Given the description of an element on the screen output the (x, y) to click on. 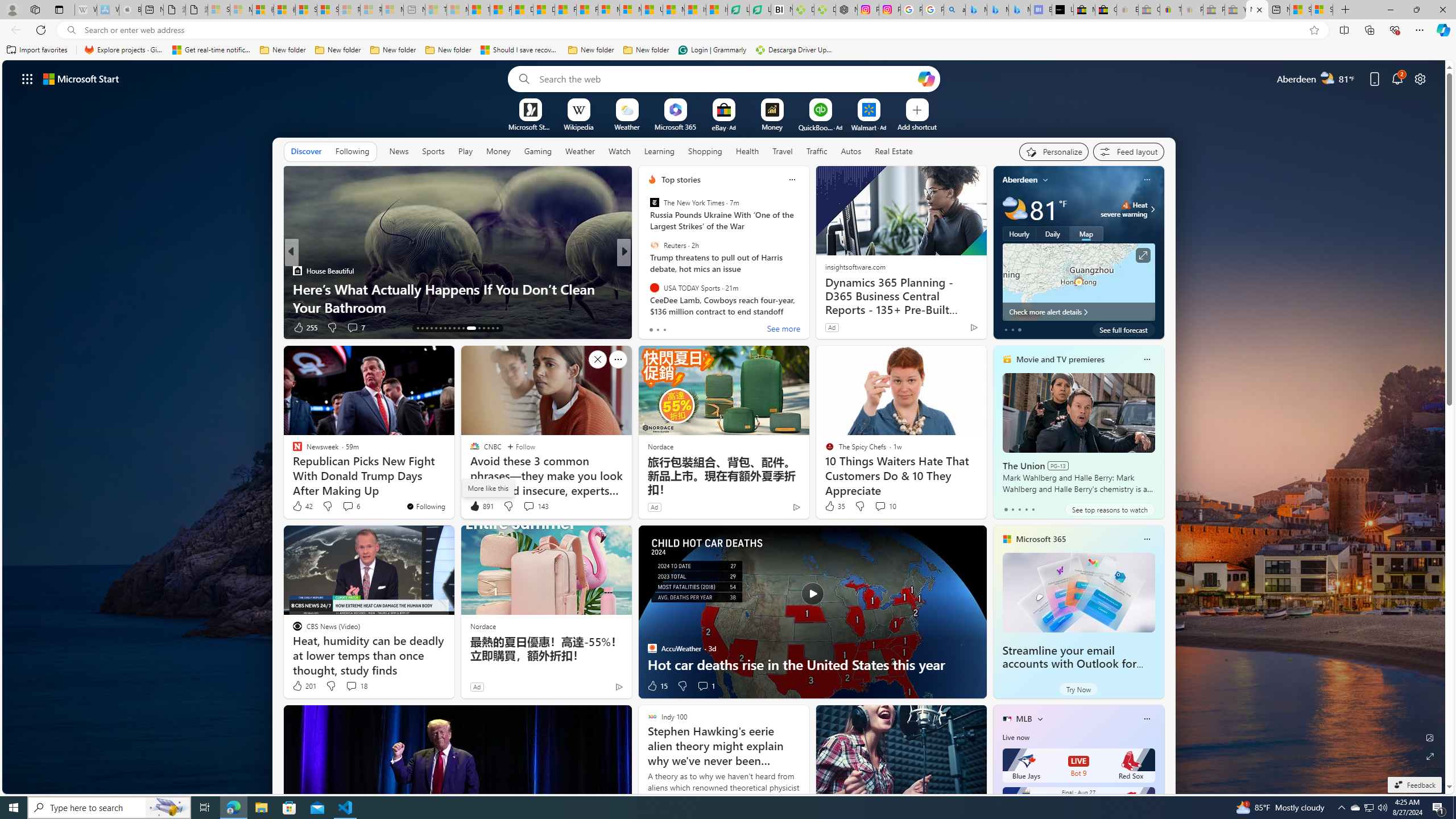
Expand background (1430, 756)
AutomationID: tab-23 (462, 328)
Press Room - eBay Inc. - Sleeping (1214, 9)
AutomationID: tab-15 (426, 328)
Click to see more information (1142, 255)
